Given the description of an element on the screen output the (x, y) to click on. 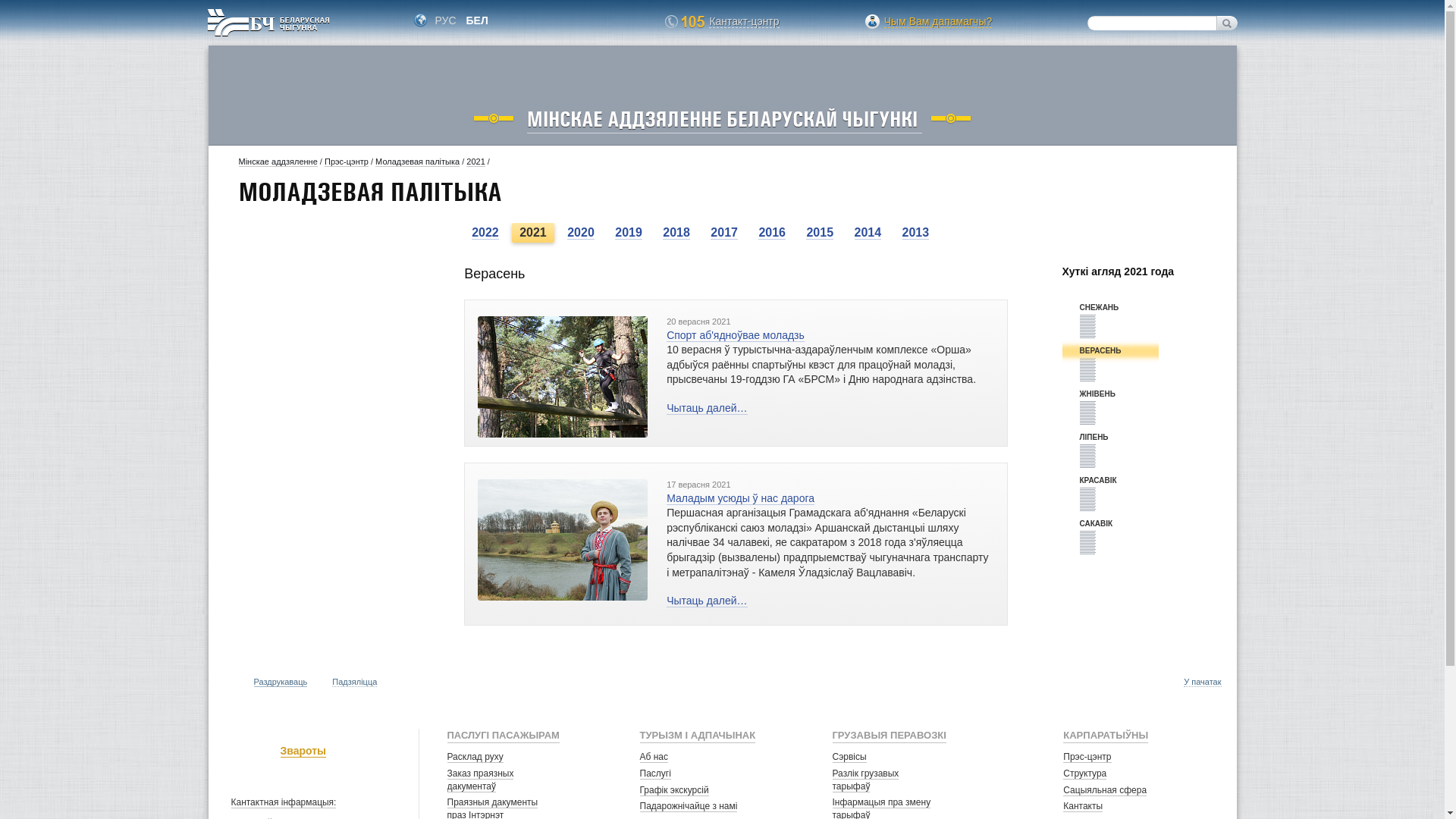
2019 Element type: text (628, 232)
2014 Element type: text (867, 232)
2013 Element type: text (915, 232)
2015 Element type: text (819, 232)
2021 Element type: text (475, 161)
2018 Element type: text (676, 232)
2020 Element type: text (580, 232)
2017 Element type: text (723, 232)
2022 Element type: text (484, 232)
2016 Element type: text (771, 232)
